Given the description of an element on the screen output the (x, y) to click on. 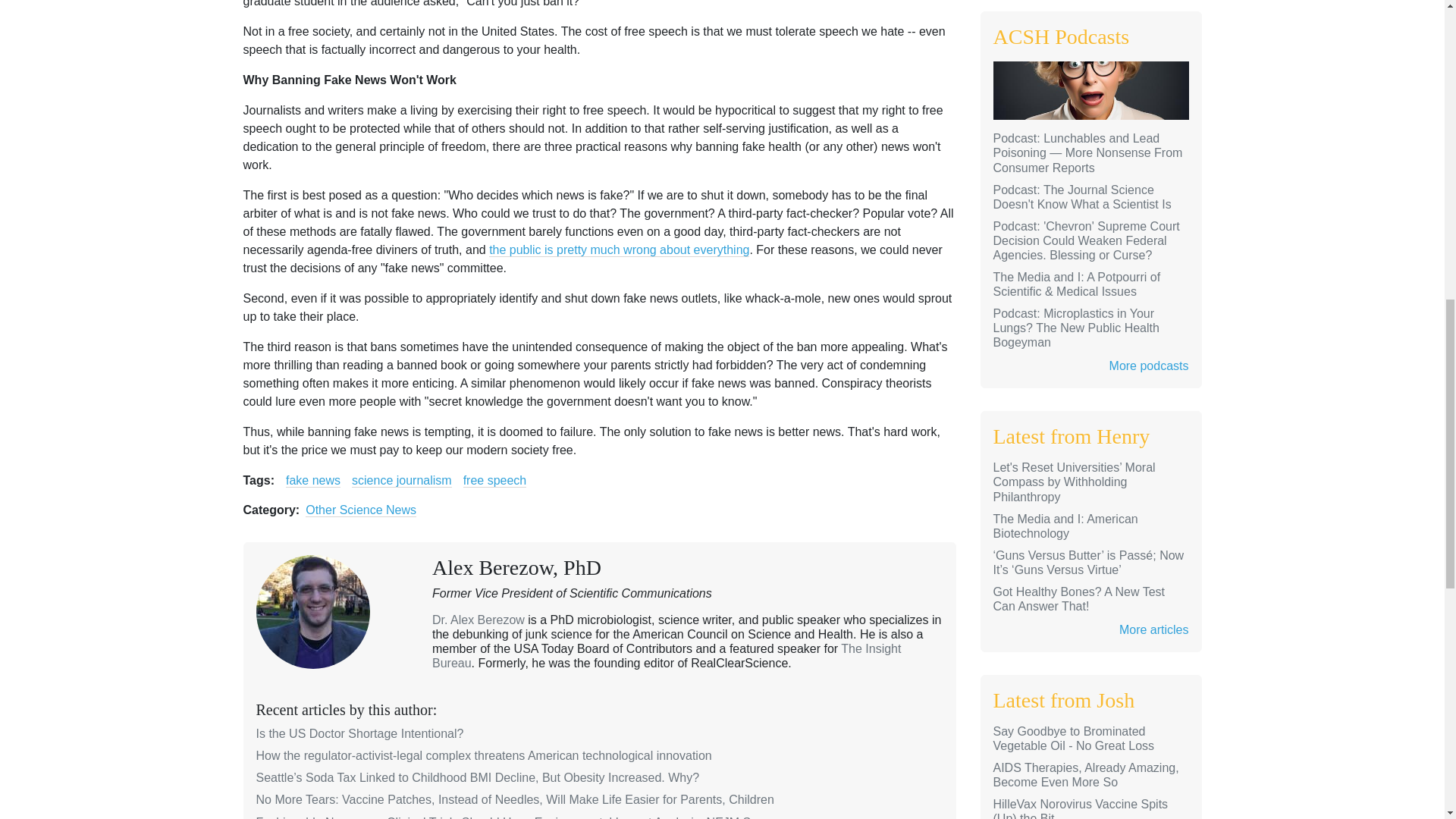
fake news (312, 480)
the public is pretty much wrong about everything (619, 250)
science journalism (401, 480)
